Given the description of an element on the screen output the (x, y) to click on. 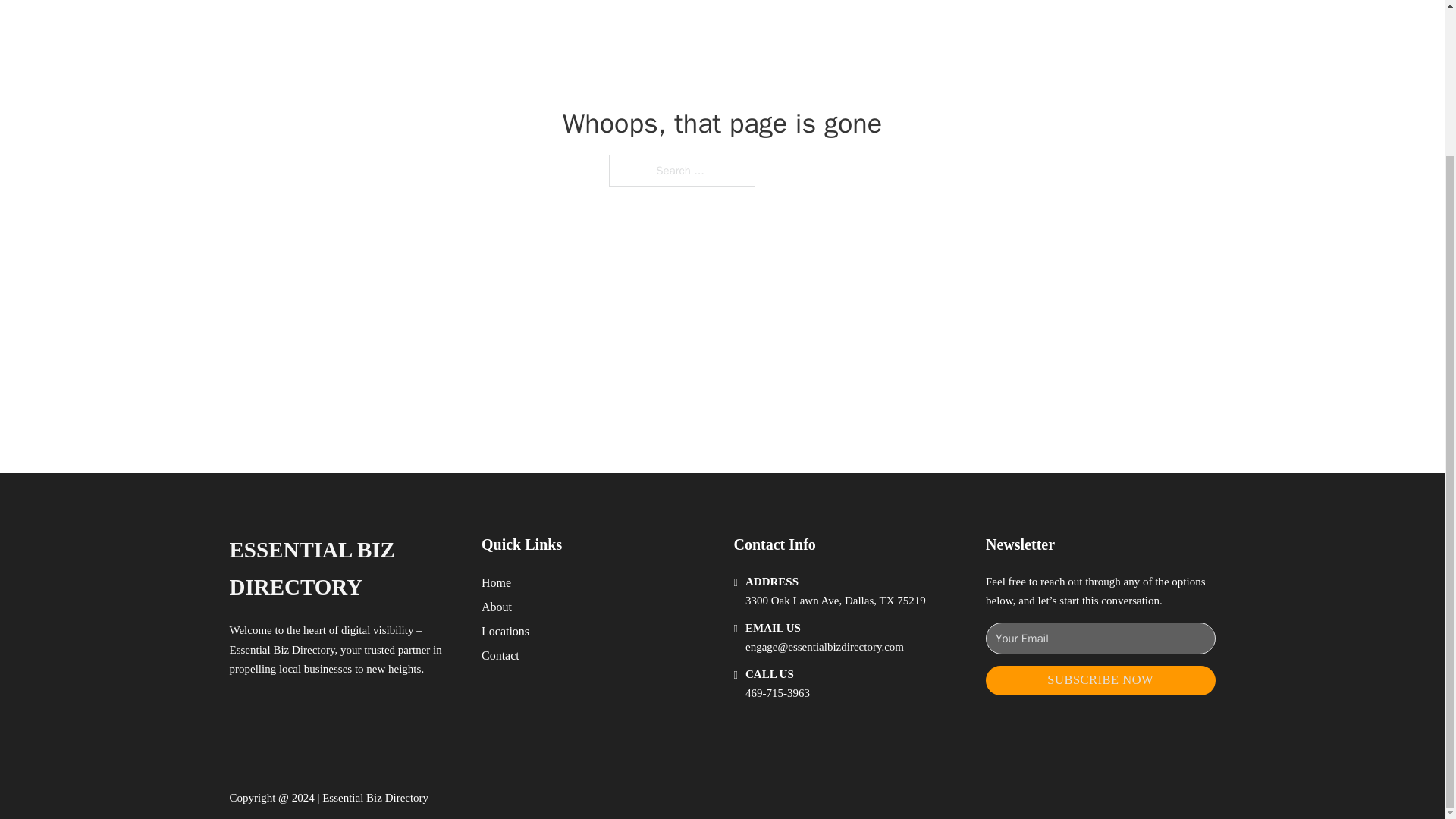
Home (496, 582)
SUBSCRIBE NOW (1100, 680)
Locations (505, 630)
469-715-3963 (777, 693)
About (496, 607)
Contact (500, 655)
ESSENTIAL BIZ DIRECTORY (343, 568)
